Given the description of an element on the screen output the (x, y) to click on. 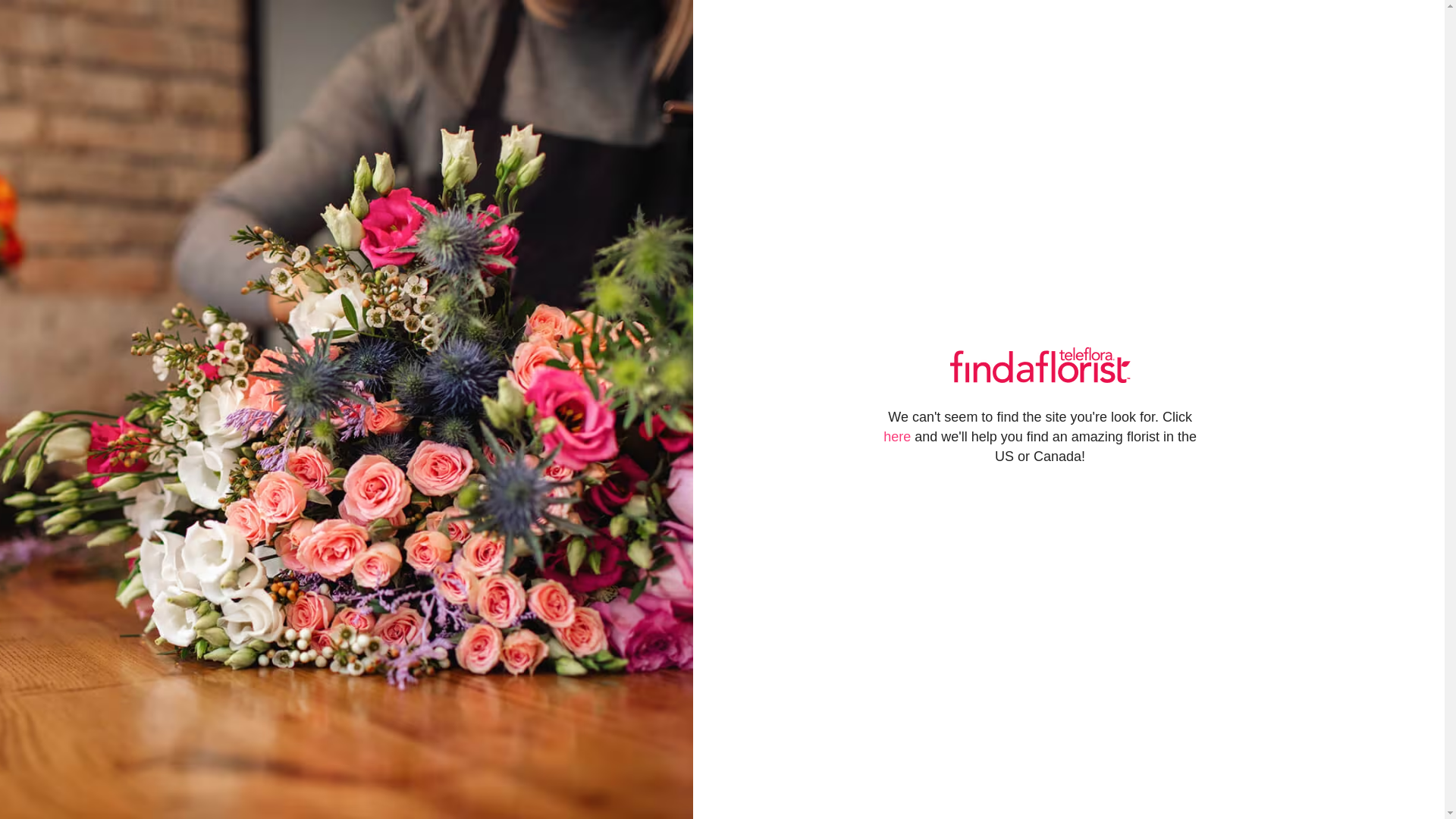
here (897, 436)
